Given the description of an element on the screen output the (x, y) to click on. 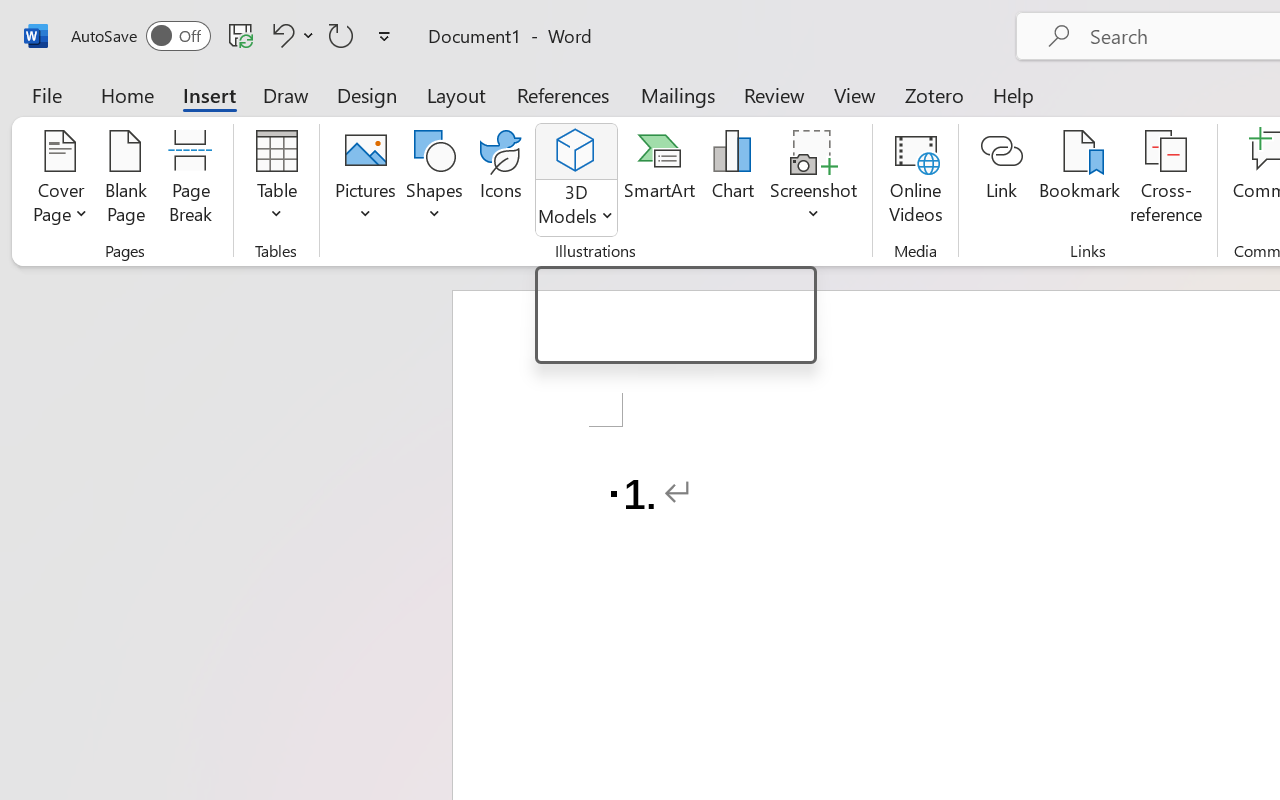
Pictures (365, 179)
Cover Page (60, 179)
Table (276, 179)
Repeat Doc Close (341, 35)
3D Models (576, 179)
SmartArt... (659, 179)
3D Models (576, 151)
